Given the description of an element on the screen output the (x, y) to click on. 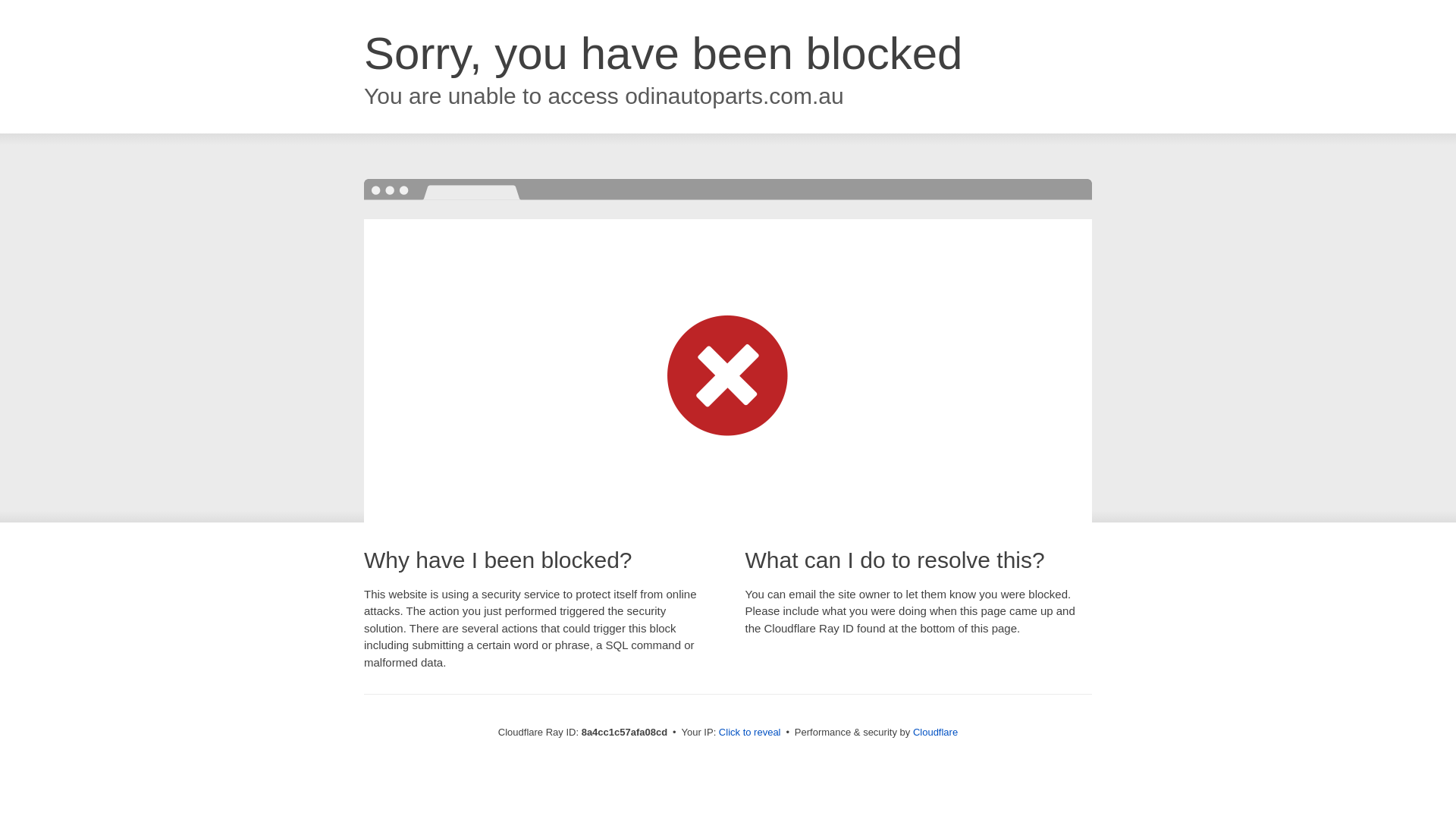
Click to reveal (749, 732)
Cloudflare (935, 731)
